Given the description of an element on the screen output the (x, y) to click on. 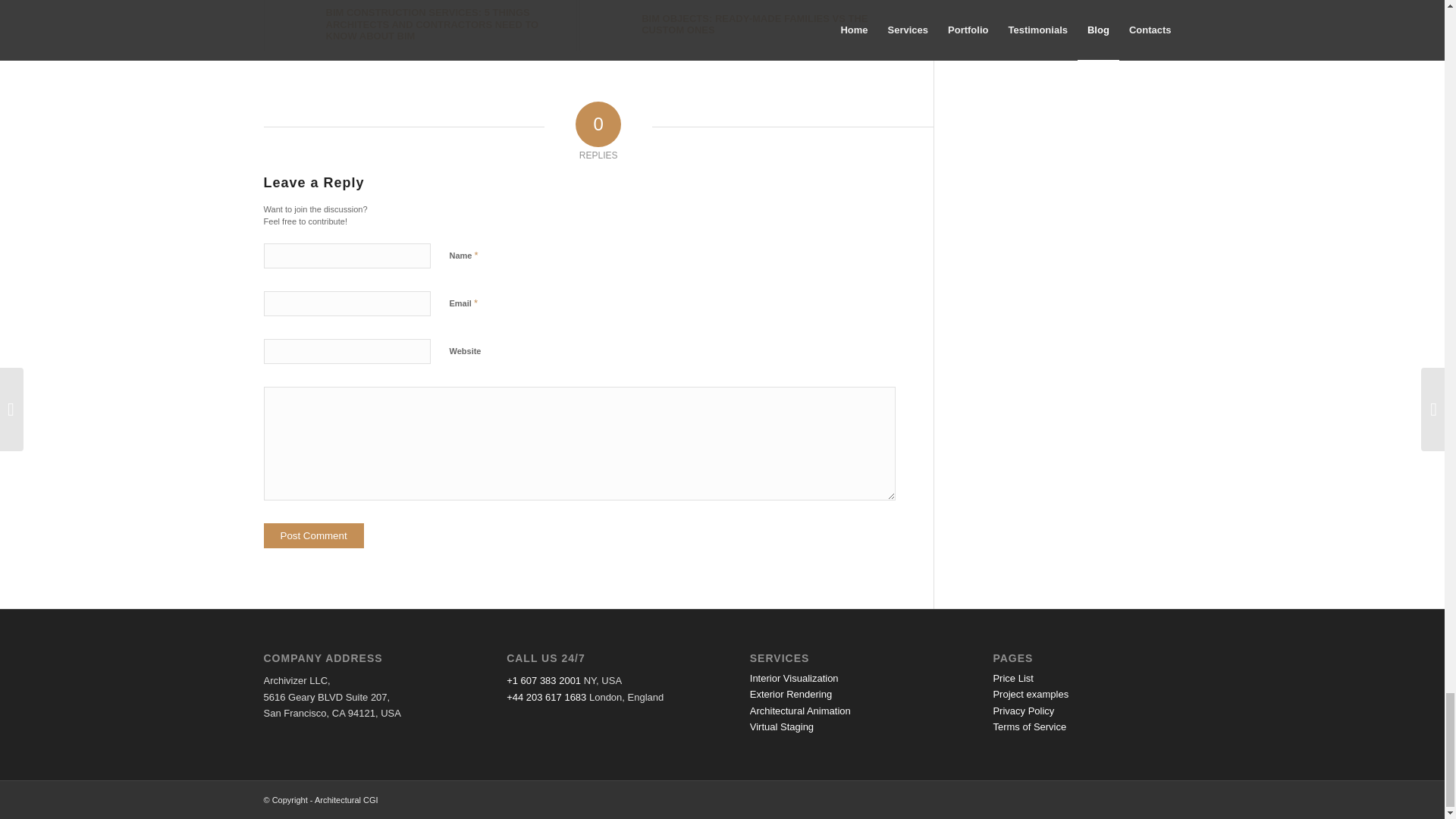
Post Comment (313, 535)
BIM OBJECTS: READY-MADE FAMILIES VS THE CUSTOM ONES (736, 26)
Post Comment (313, 535)
